Given the description of an element on the screen output the (x, y) to click on. 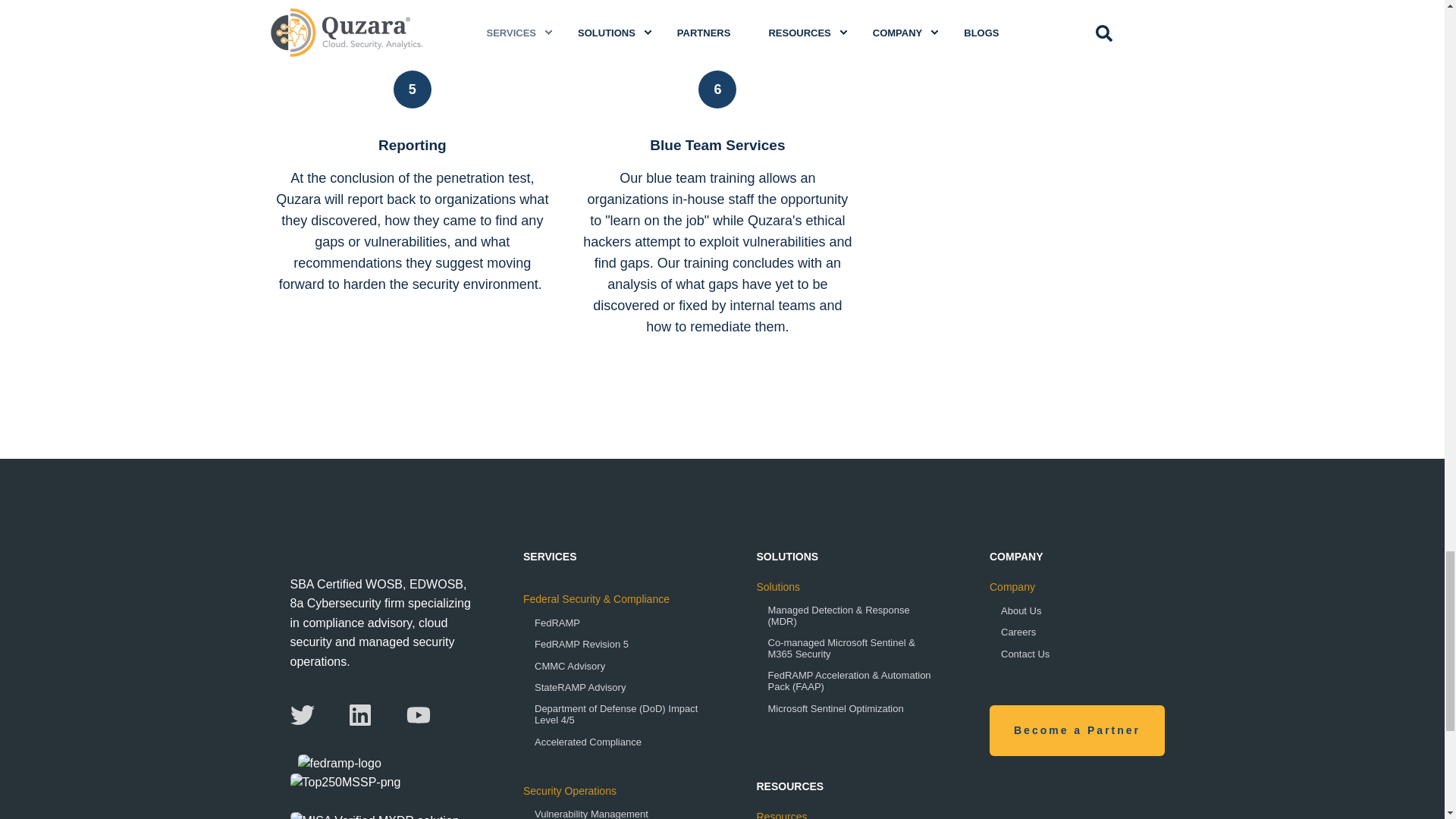
Button Become a Partner (1077, 730)
